Given the description of an element on the screen output the (x, y) to click on. 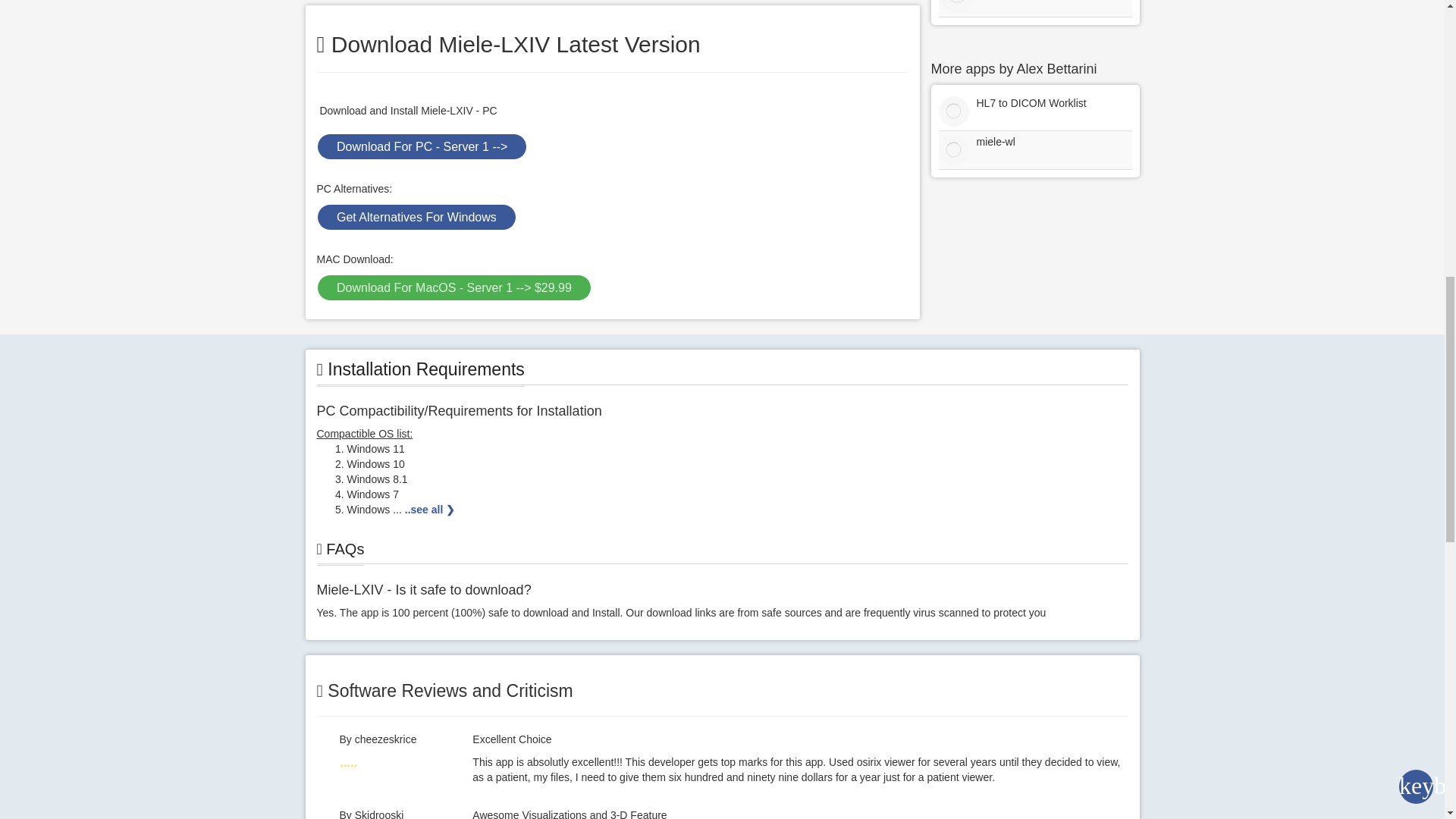
Get Alternatives For Windows (416, 217)
